Given the description of an element on the screen output the (x, y) to click on. 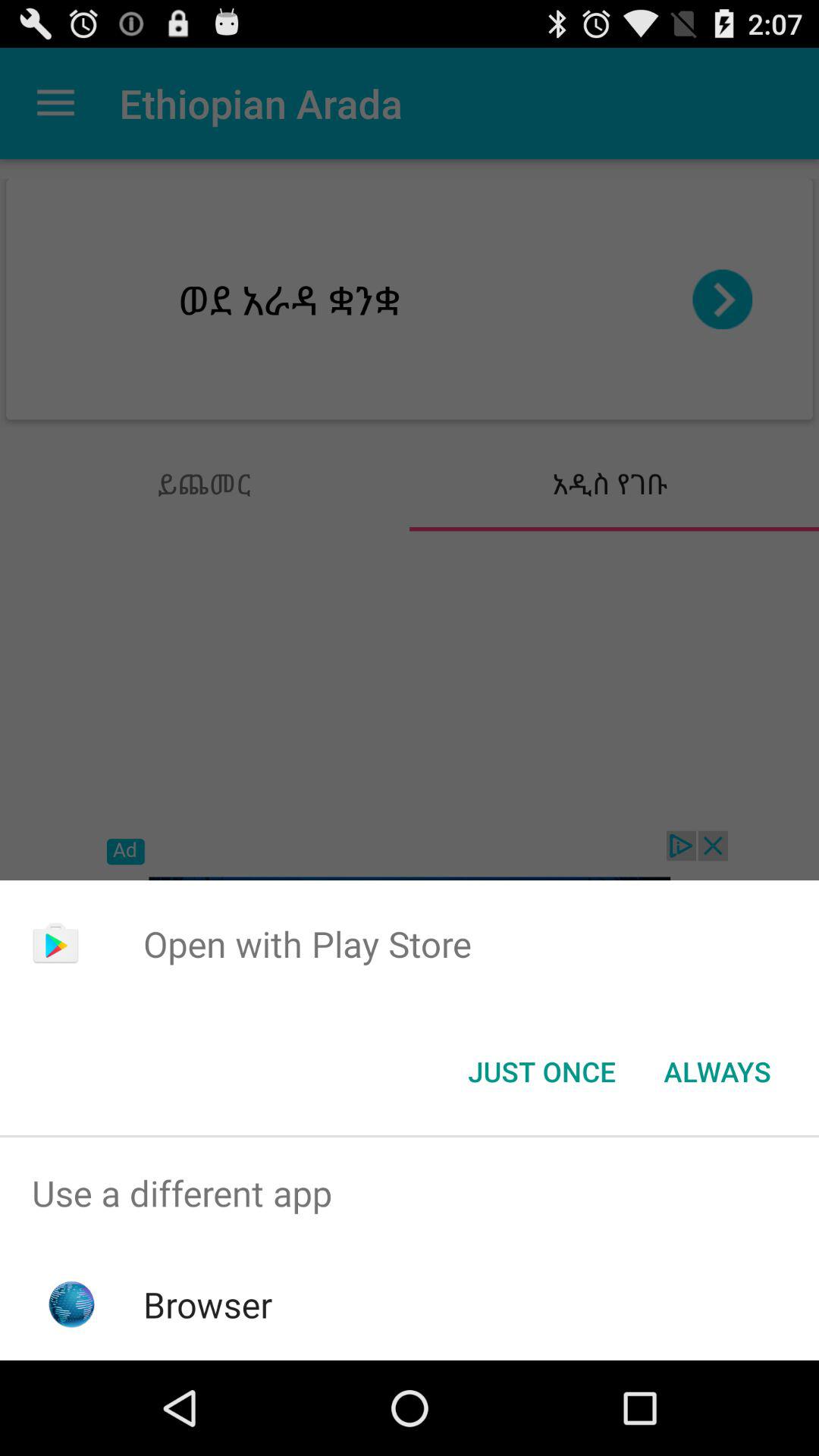
open icon below use a different icon (207, 1304)
